Given the description of an element on the screen output the (x, y) to click on. 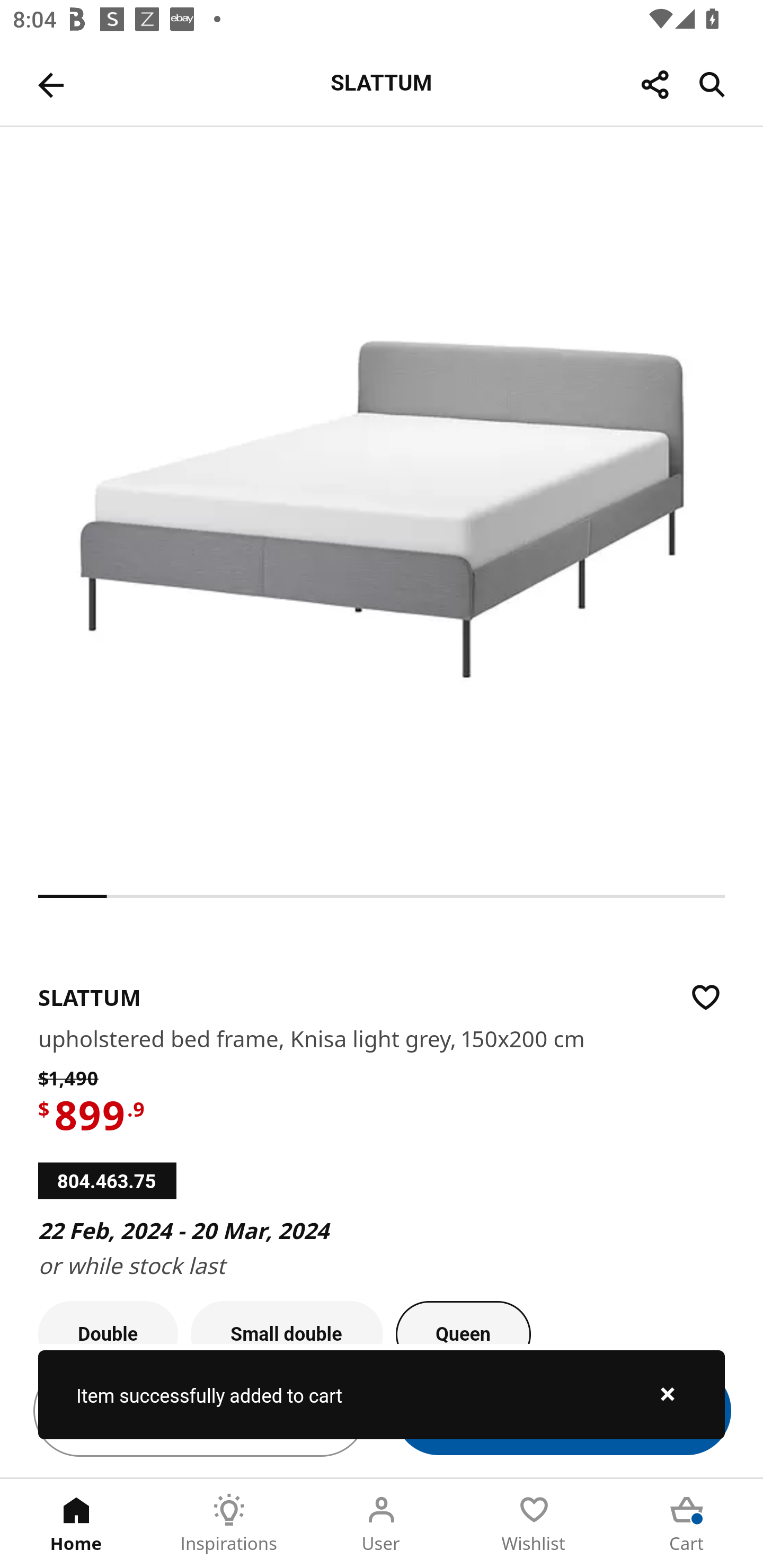
Double (107, 1322)
Small double (286, 1322)
Queen (463, 1322)
Item successfully added to cart (381, 1394)
Home
Tab 1 of 5 (76, 1522)
Inspirations
Tab 2 of 5 (228, 1522)
User
Tab 3 of 5 (381, 1522)
Wishlist
Tab 4 of 5 (533, 1522)
Cart
Tab 5 of 5 (686, 1522)
